Given the description of an element on the screen output the (x, y) to click on. 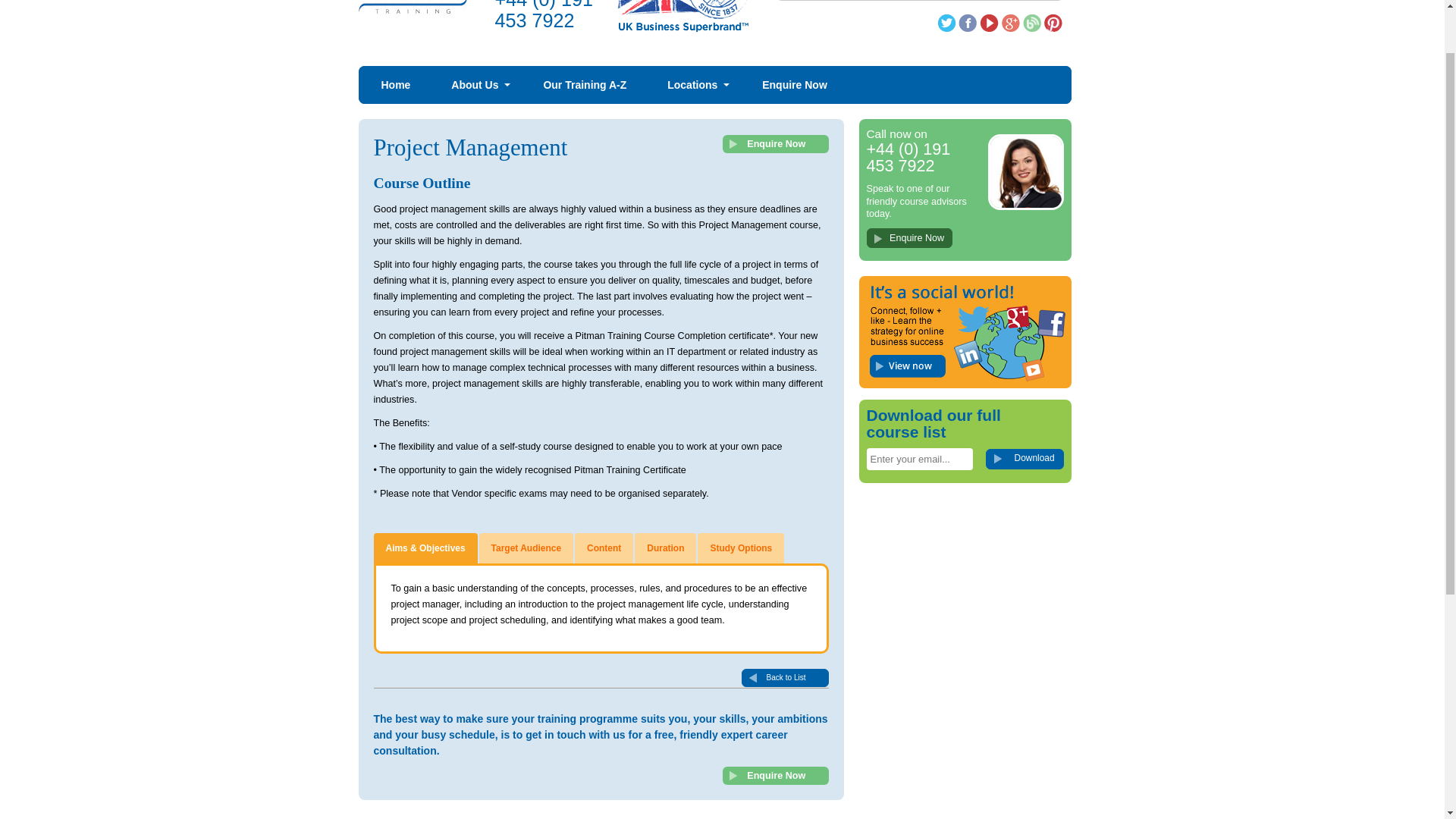
Target Audience (526, 548)
About Us (476, 85)
Enquire Now (909, 236)
Enquire Now (909, 238)
Home (395, 85)
Back to List (784, 678)
Study Options (740, 548)
Locations (694, 85)
Duration (664, 548)
Enquire Now (794, 85)
